Given the description of an element on the screen output the (x, y) to click on. 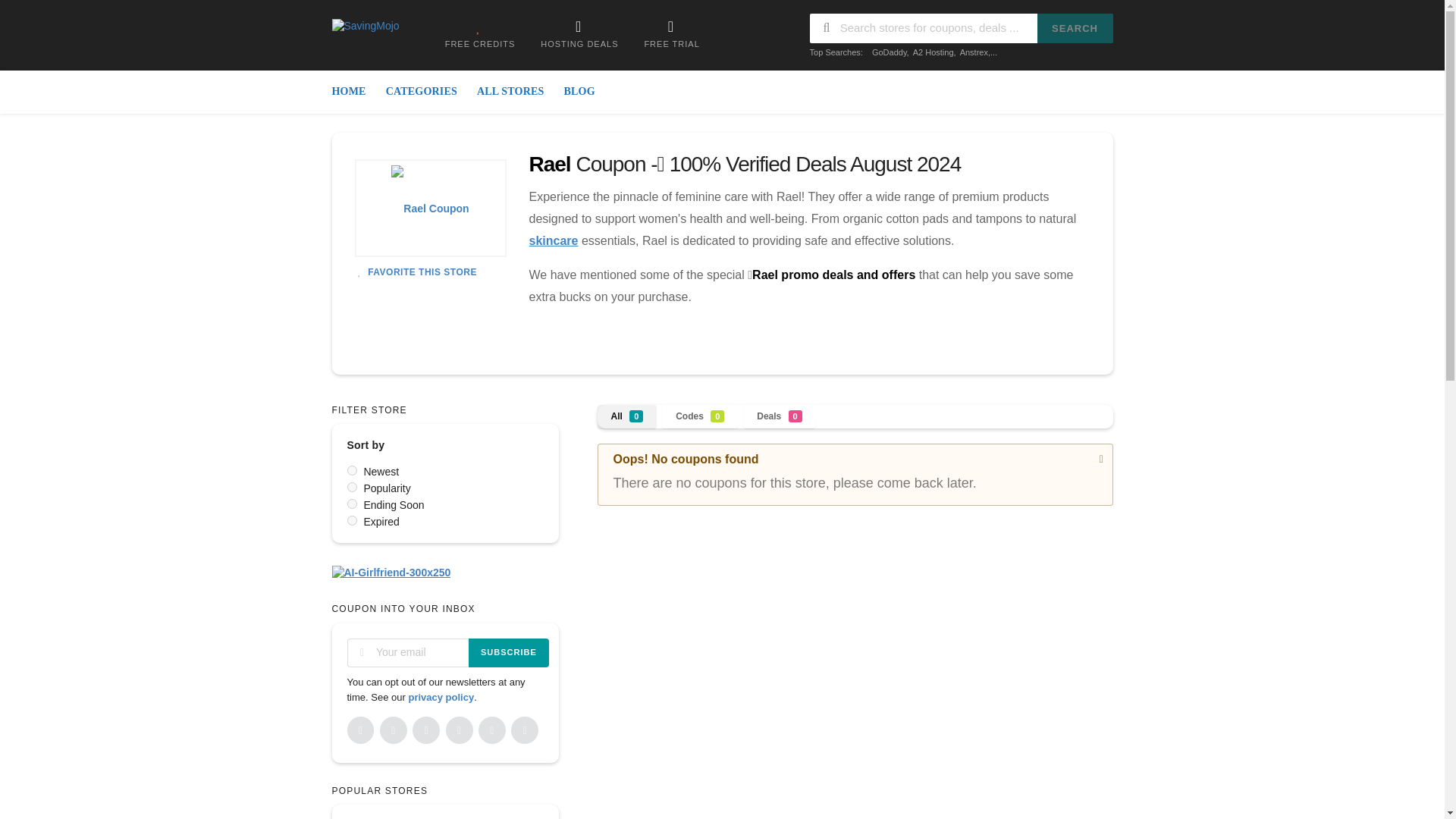
ending-soon (351, 503)
SEARCH (1074, 28)
Deals 0 (778, 416)
Rael Coupon (429, 208)
Anstrex (973, 51)
FREE TRIAL (670, 33)
BLOG (578, 91)
expired (351, 520)
GoDaddy (889, 51)
Shop Rael (430, 207)
FAVORITE THIS STORE (416, 271)
CATEGORIES (421, 91)
newest (351, 470)
ALL STORES (510, 91)
HOSTING DEALS (578, 33)
